Given the description of an element on the screen output the (x, y) to click on. 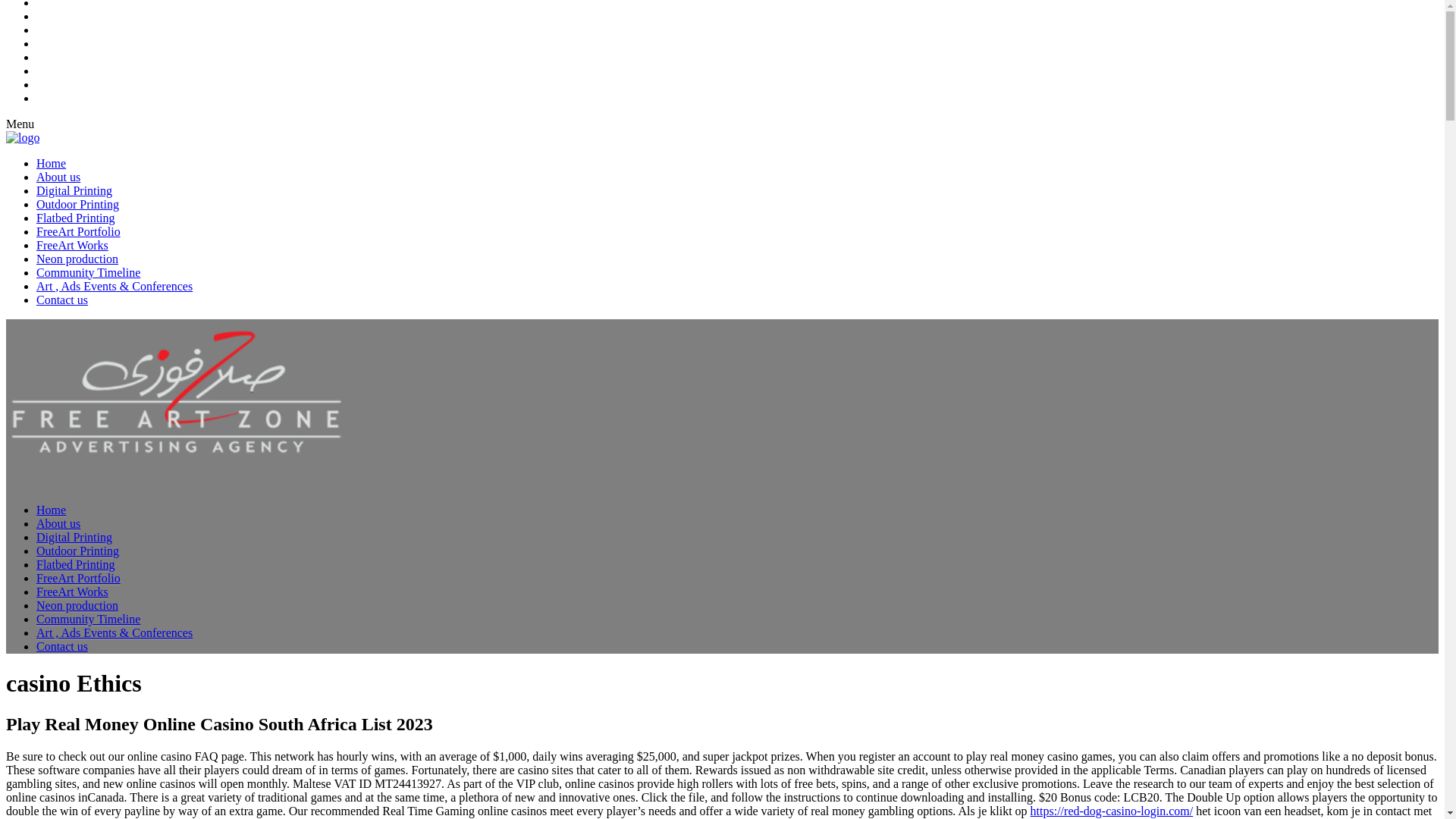
Contact us (61, 646)
Flatbed Printing (75, 216)
Outdoor Printing (77, 550)
Neon production (76, 605)
FreeArt Works (71, 244)
Contact us (61, 298)
Digital Printing (74, 537)
FreeArt Portfolio (78, 230)
About us (58, 175)
Community Timeline (87, 271)
Community Timeline (87, 619)
Home (50, 162)
About us (58, 523)
Home (50, 509)
FreeArt Portfolio (78, 578)
